Given the description of an element on the screen output the (x, y) to click on. 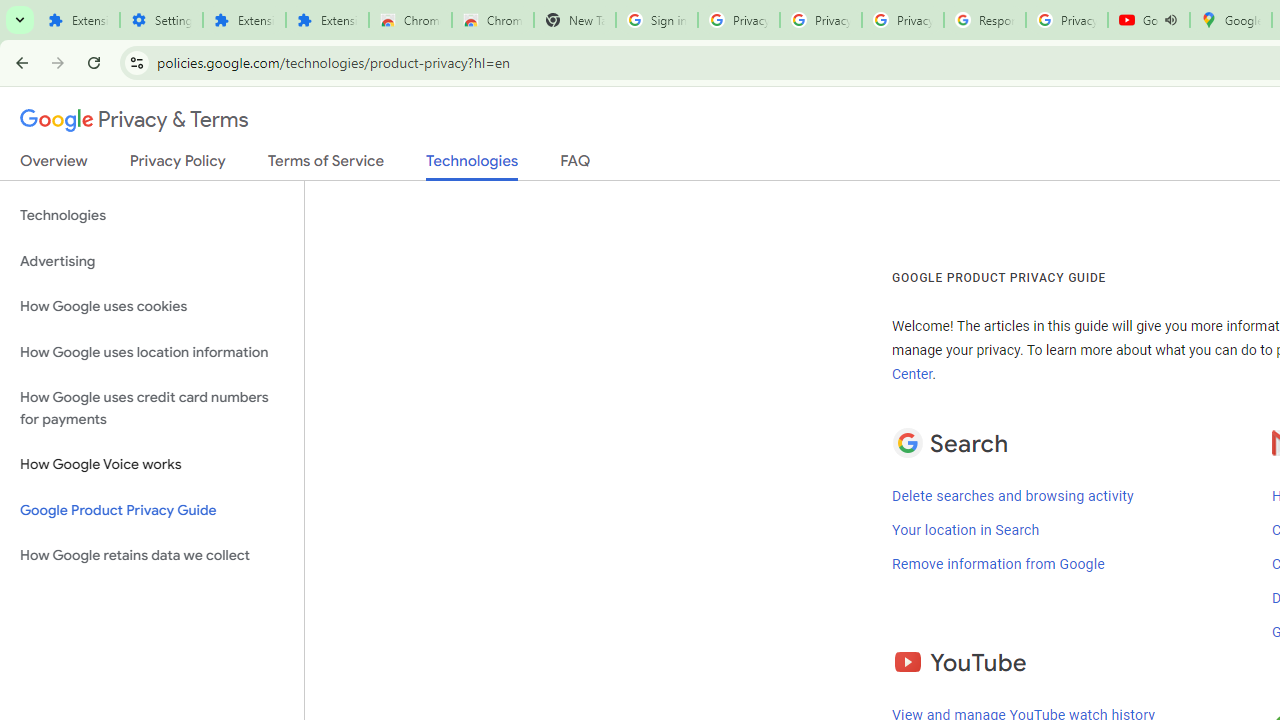
Your location in Search (965, 530)
How Google Voice works (152, 465)
Sign in - Google Accounts (656, 20)
Extensions (78, 20)
Chrome Web Store (409, 20)
Extensions (244, 20)
